Given the description of an element on the screen output the (x, y) to click on. 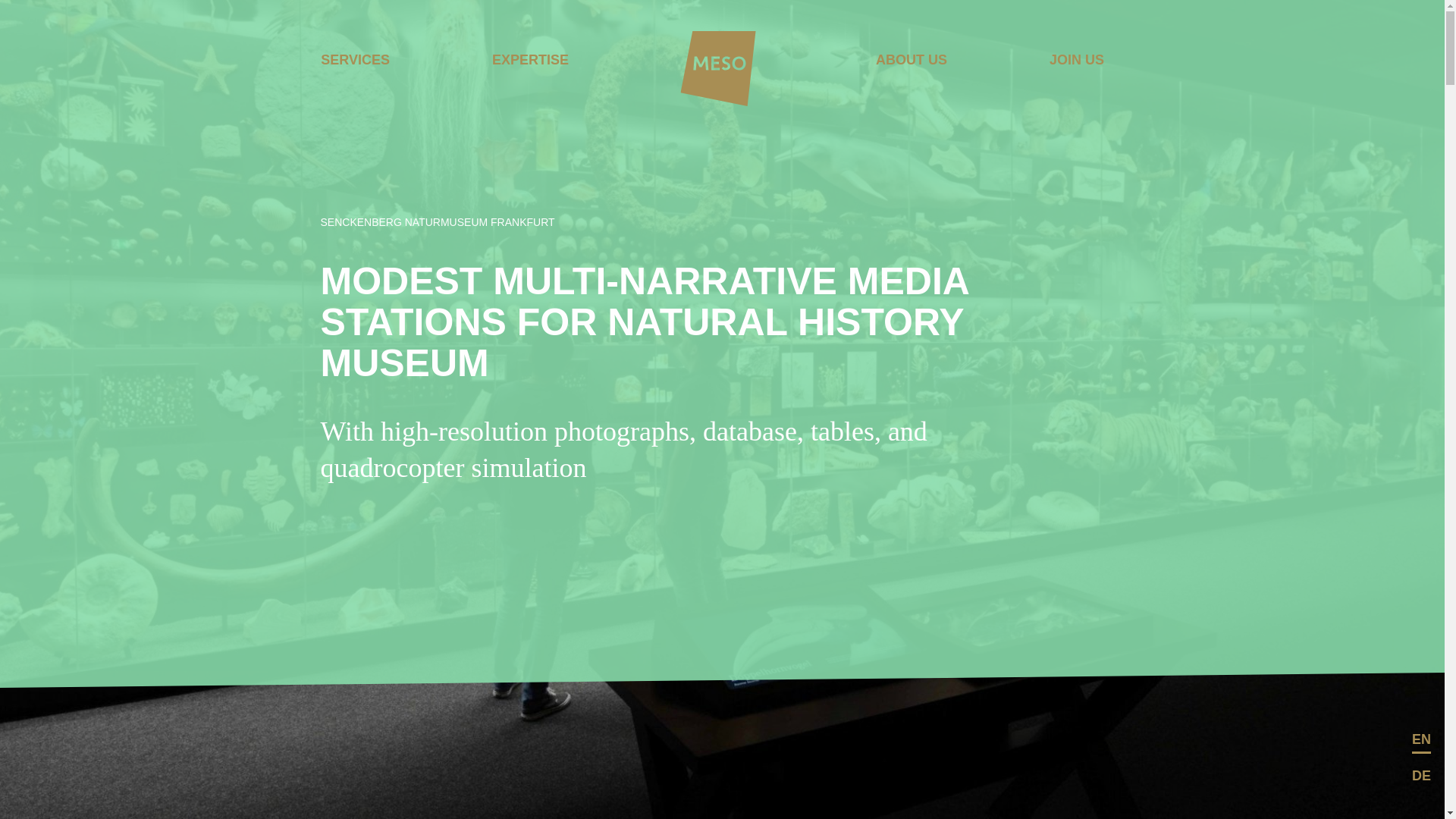
DE (1421, 775)
ABOUT US (911, 59)
JOIN US (1075, 59)
MESO LOGO (718, 69)
SERVICES (355, 59)
MESO LOGO (719, 68)
EXPERTISE (530, 59)
EN (1421, 739)
